Given the description of an element on the screen output the (x, y) to click on. 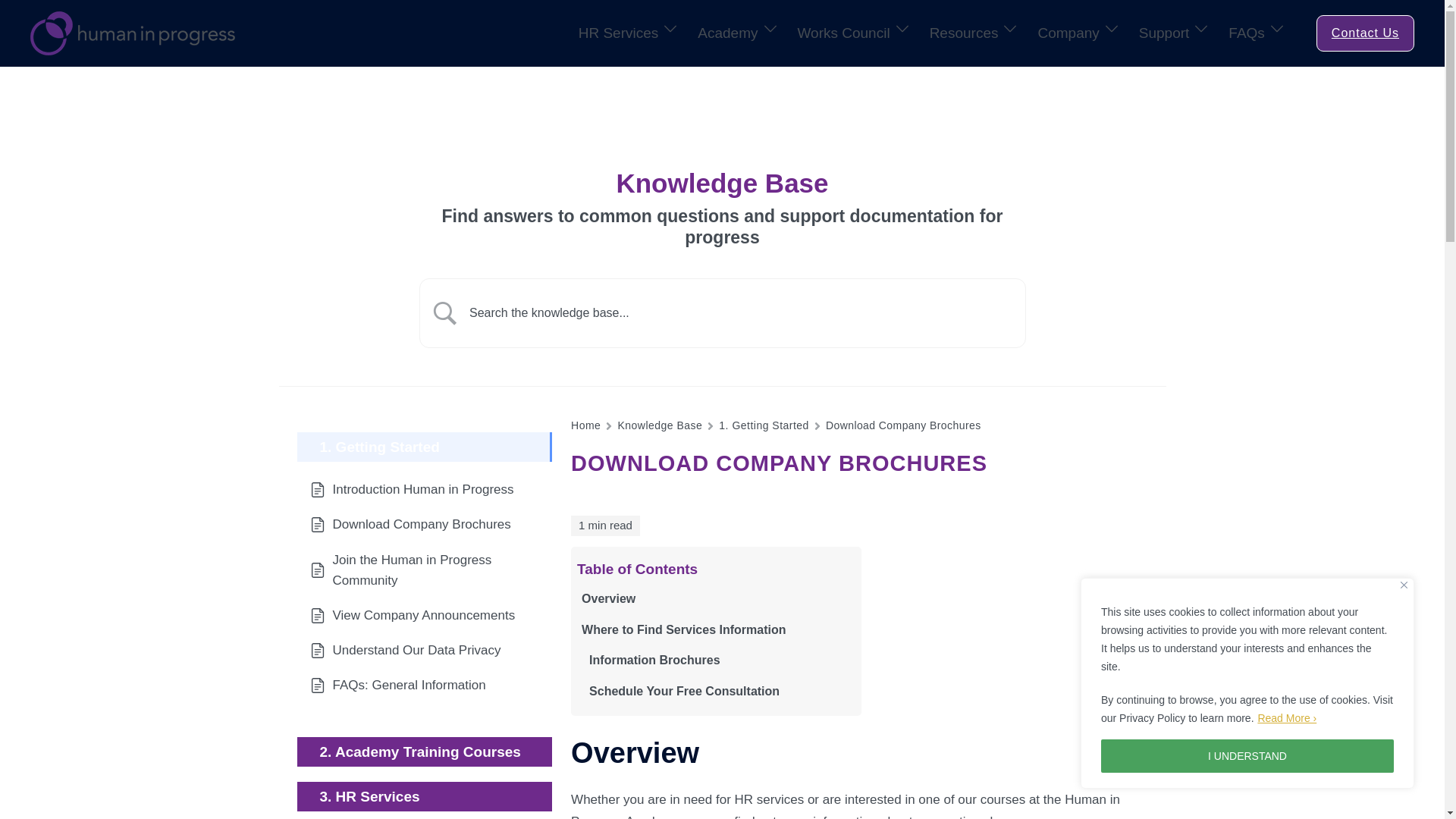
Home (584, 425)
Support (1163, 33)
Human in Progress (132, 31)
Resources (964, 33)
Knowledge Base (659, 425)
Academy (727, 33)
Company (1067, 33)
HR Services (618, 33)
FAQs (1246, 33)
I UNDERSTAND (1246, 756)
Works Council (843, 33)
1. Getting Started (764, 425)
Contact Us (1364, 33)
